Given the description of an element on the screen output the (x, y) to click on. 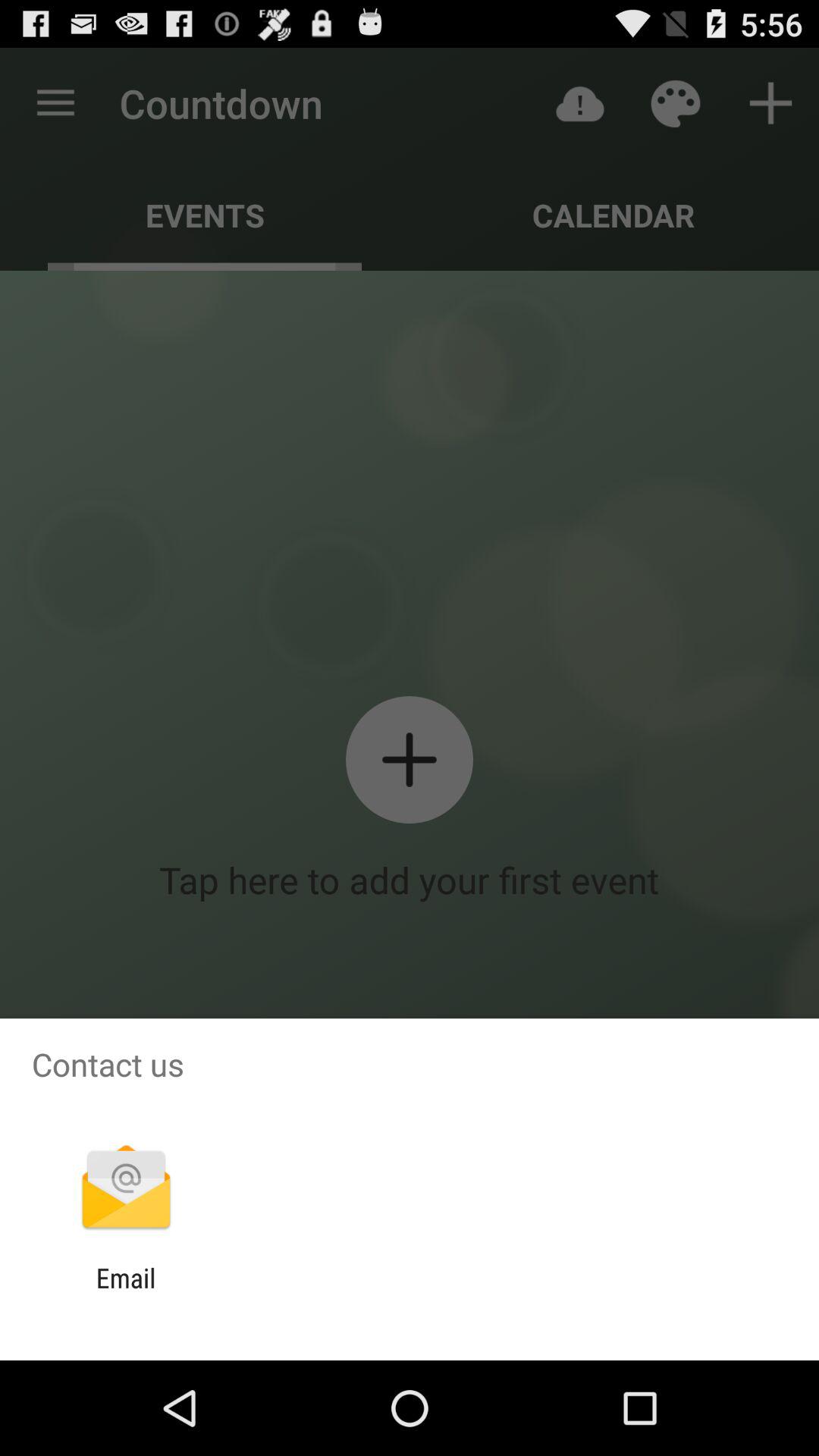
turn off icon below the contact us item (126, 1189)
